Given the description of an element on the screen output the (x, y) to click on. 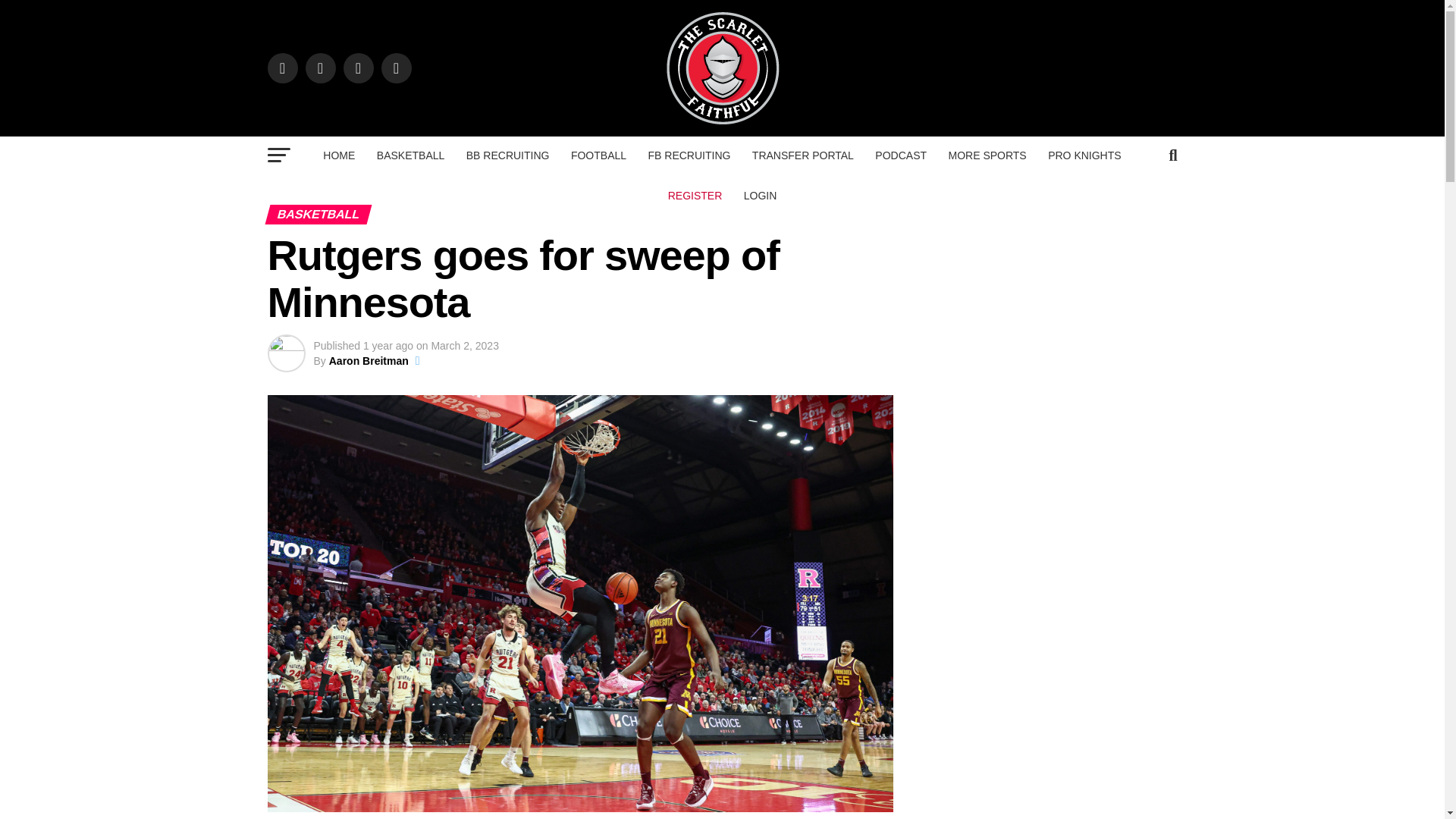
HOME (339, 155)
BASKETBALL (411, 155)
BB RECRUITING (508, 155)
FOOTBALL (598, 155)
